Given the description of an element on the screen output the (x, y) to click on. 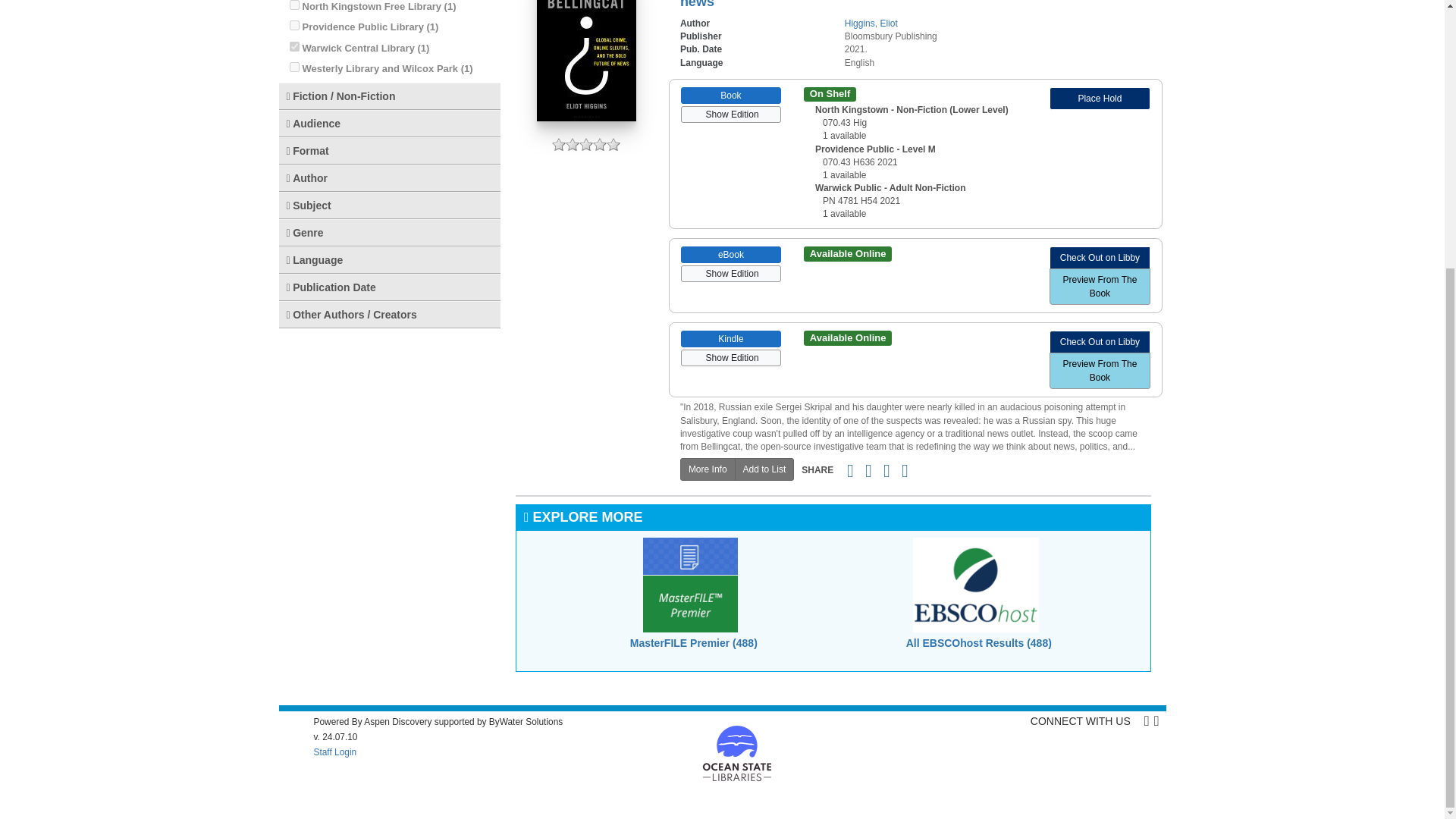
on (294, 67)
on (294, 25)
on (294, 4)
on (294, 46)
